Given the description of an element on the screen output the (x, y) to click on. 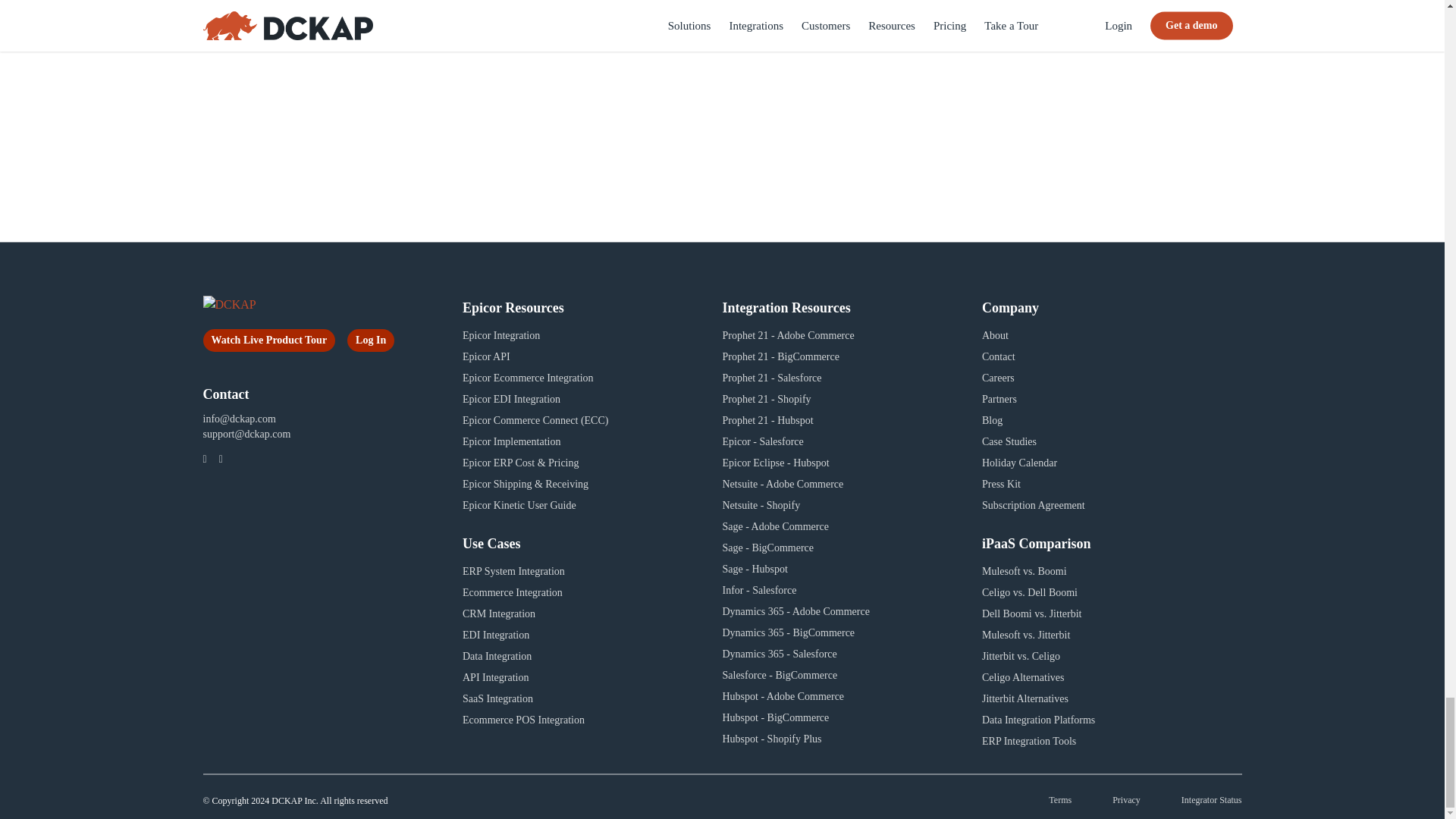
Log In (370, 340)
Watch Live Product Tour (269, 340)
